Given the description of an element on the screen output the (x, y) to click on. 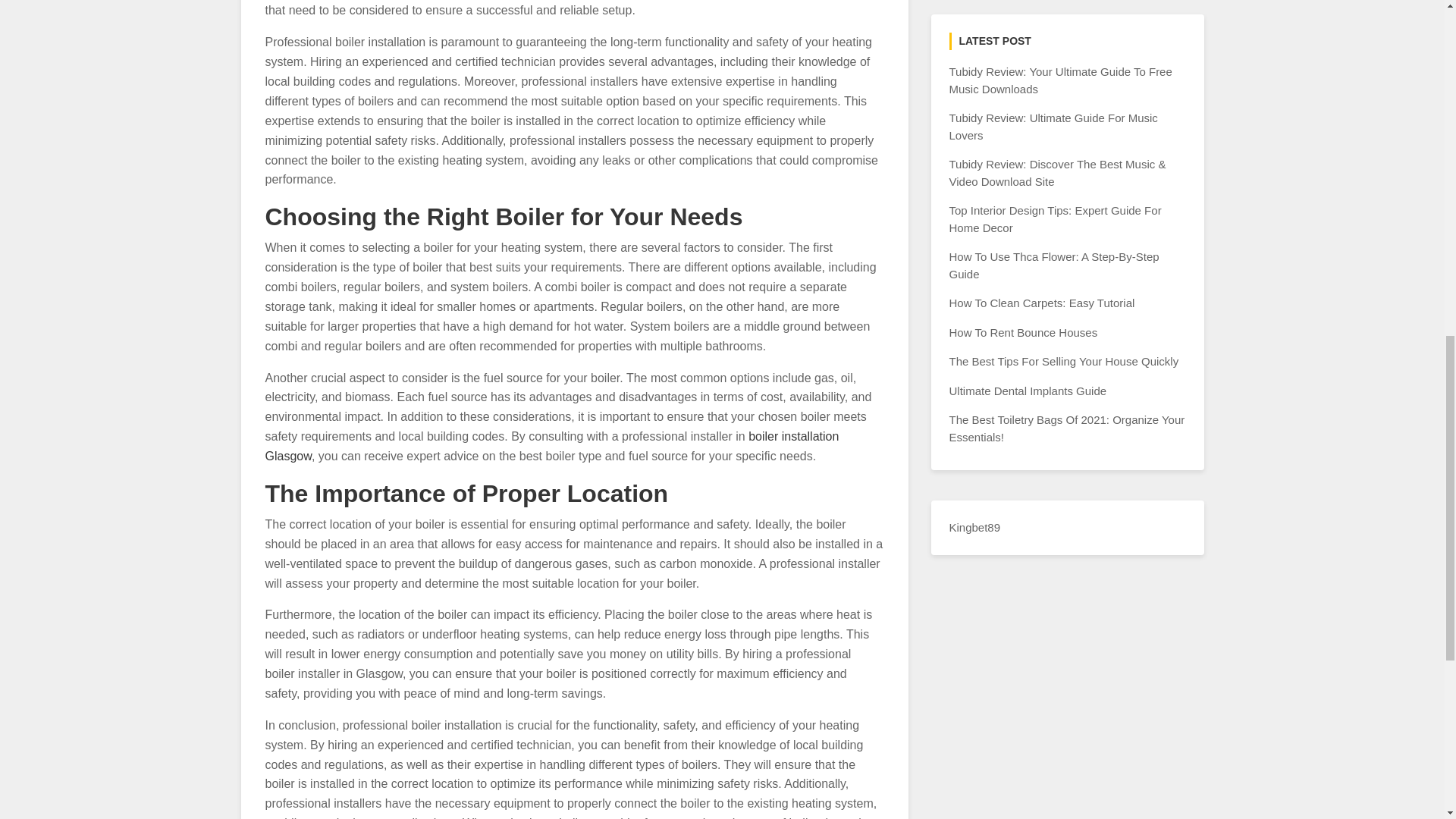
Ultimate Dental Implants Guide (1027, 390)
How To Use Thca Flower: A Step-By-Step Guide (1053, 265)
boiler installation Glasgow (552, 445)
Tubidy Review: Your Ultimate Guide To Free Music Downloads (1060, 80)
The Best Tips For Selling Your House Quickly (1064, 360)
Tubidy Review: Ultimate Guide For Music Lovers (1053, 126)
Kingbet89 (975, 526)
How To Rent Bounce Houses (1023, 332)
The Best Toiletry Bags Of 2021: Organize Your Essentials! (1067, 428)
Top Interior Design Tips: Expert Guide For Home Decor (1055, 218)
